Given the description of an element on the screen output the (x, y) to click on. 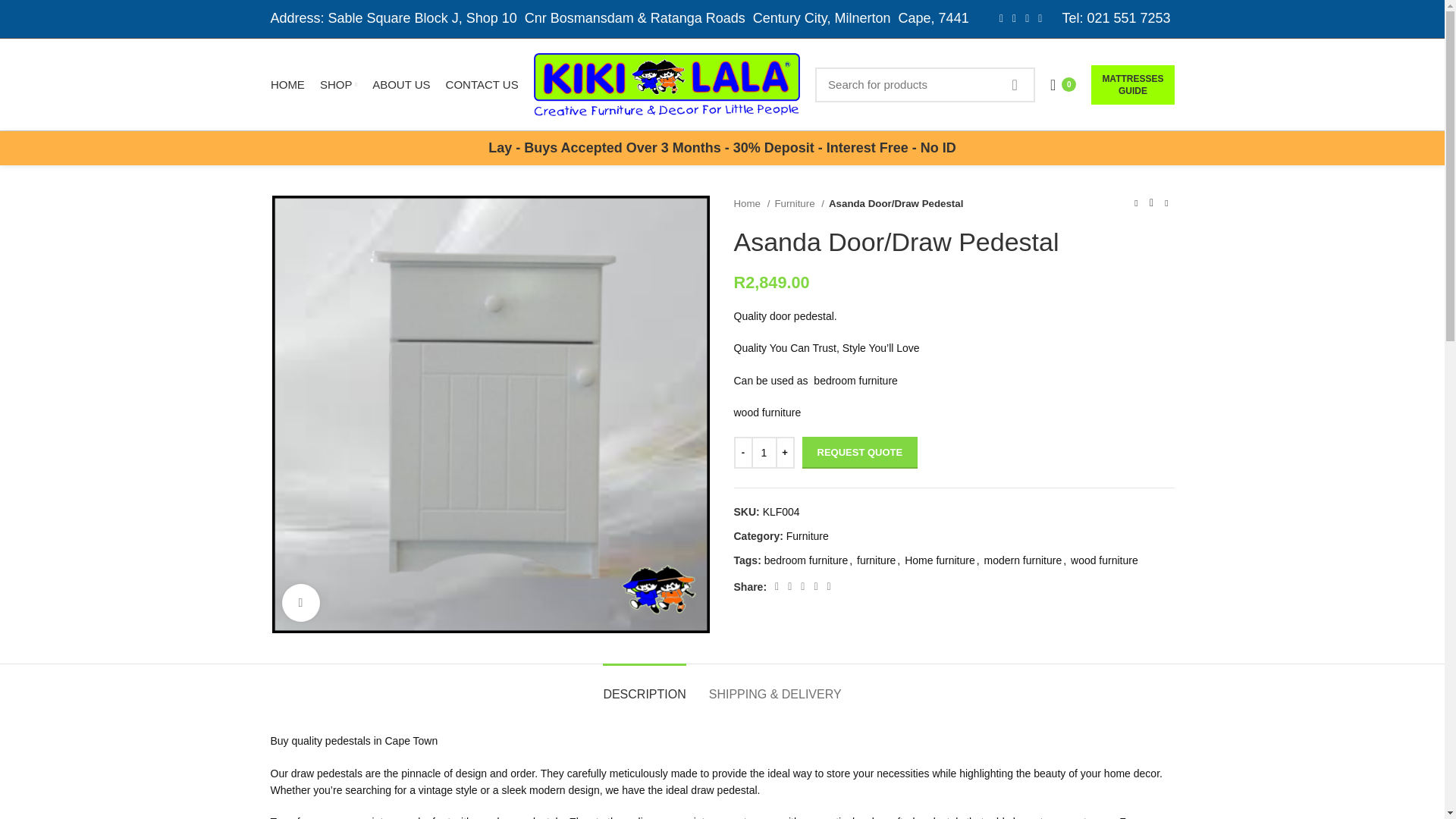
ABOUT US (401, 84)
Furniture (799, 203)
Search for products (925, 83)
Home (751, 203)
Shopping cart (1062, 84)
CONTACT US (481, 84)
HOME (288, 84)
SHOP (339, 84)
0 (1062, 84)
MATTRESSES GUIDE (1131, 84)
SEARCH (1014, 83)
